Given the description of an element on the screen output the (x, y) to click on. 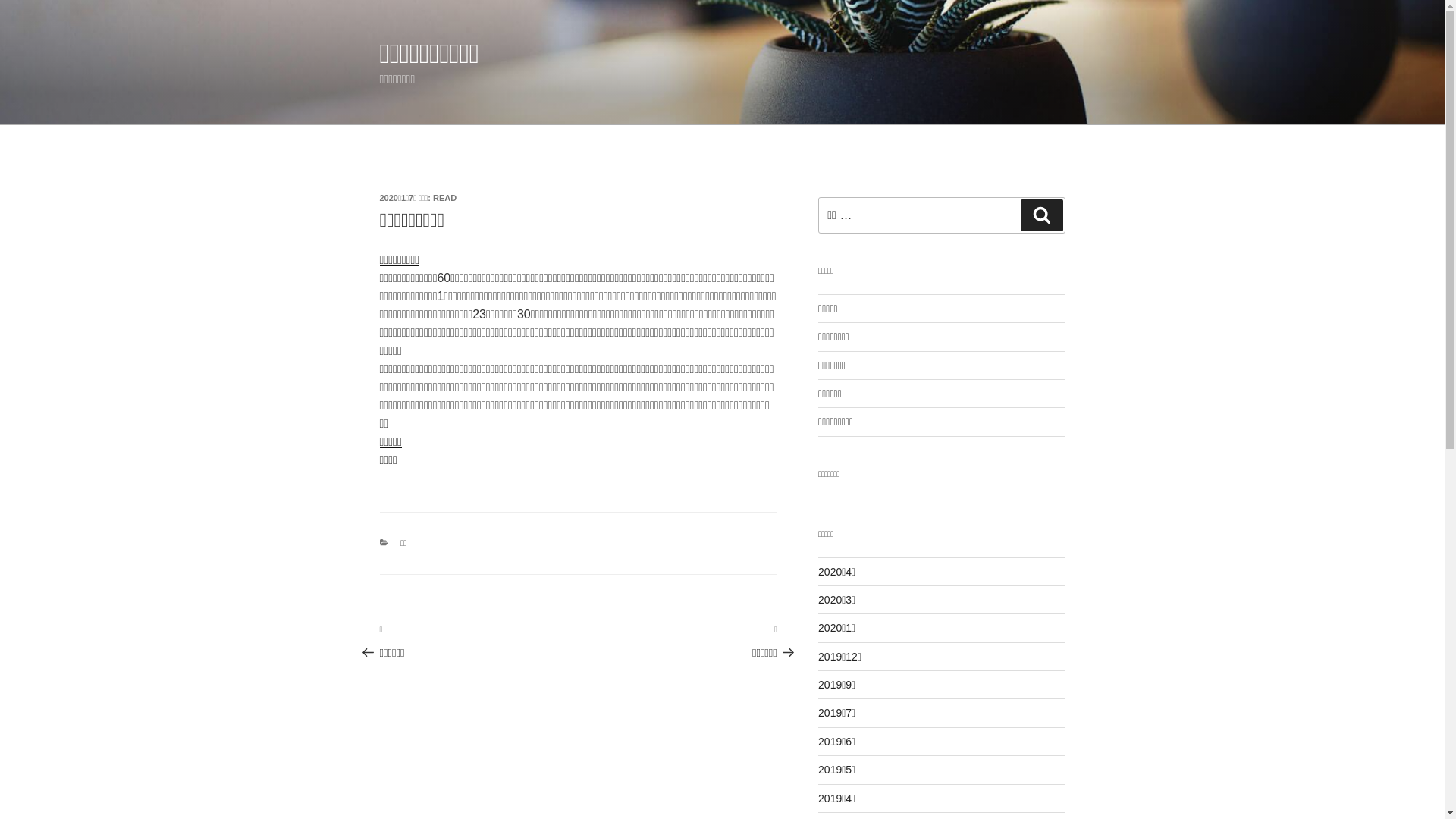
READ Element type: text (444, 197)
